Given the description of an element on the screen output the (x, y) to click on. 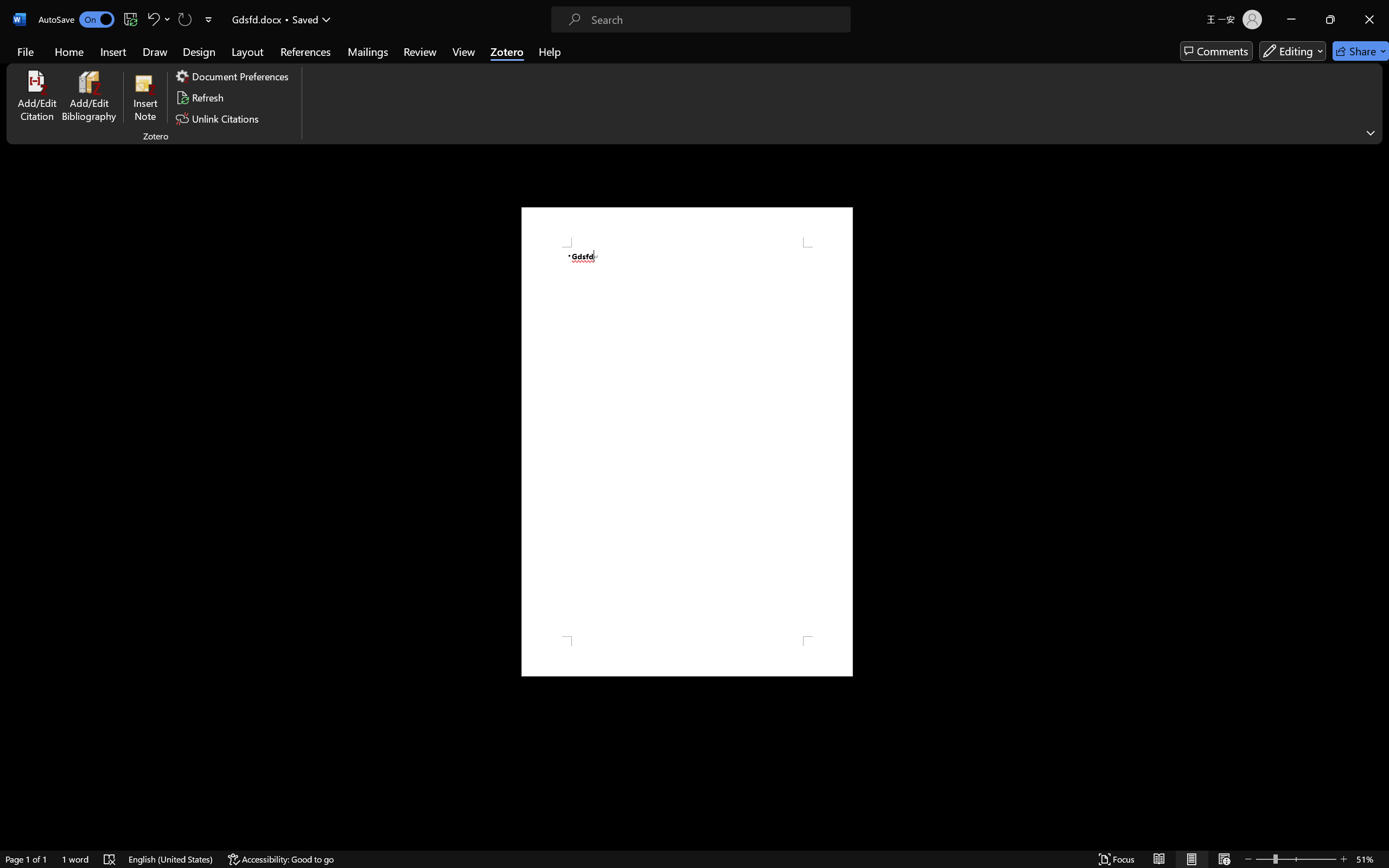
Page 1 content (686, 441)
